Given the description of an element on the screen output the (x, y) to click on. 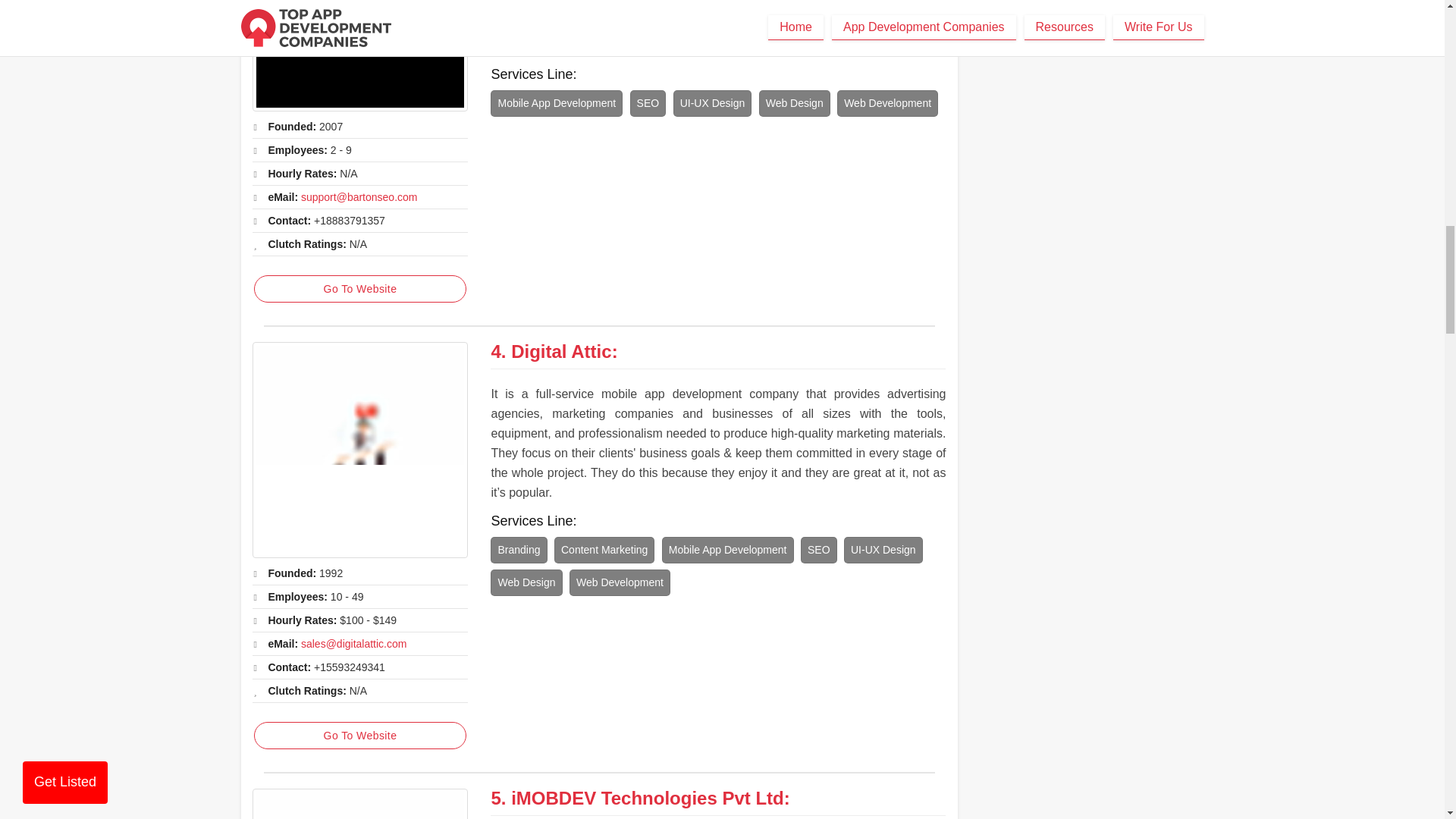
Go To Website (359, 735)
Go To Website (359, 288)
Digital Attic (561, 351)
Barton Consulting (359, 55)
iMOBDEV Technologies Pvt Ltd (647, 797)
Digital Attic (359, 449)
iMOBDEV Technologies Pvt Ltd (359, 803)
